Given the description of an element on the screen output the (x, y) to click on. 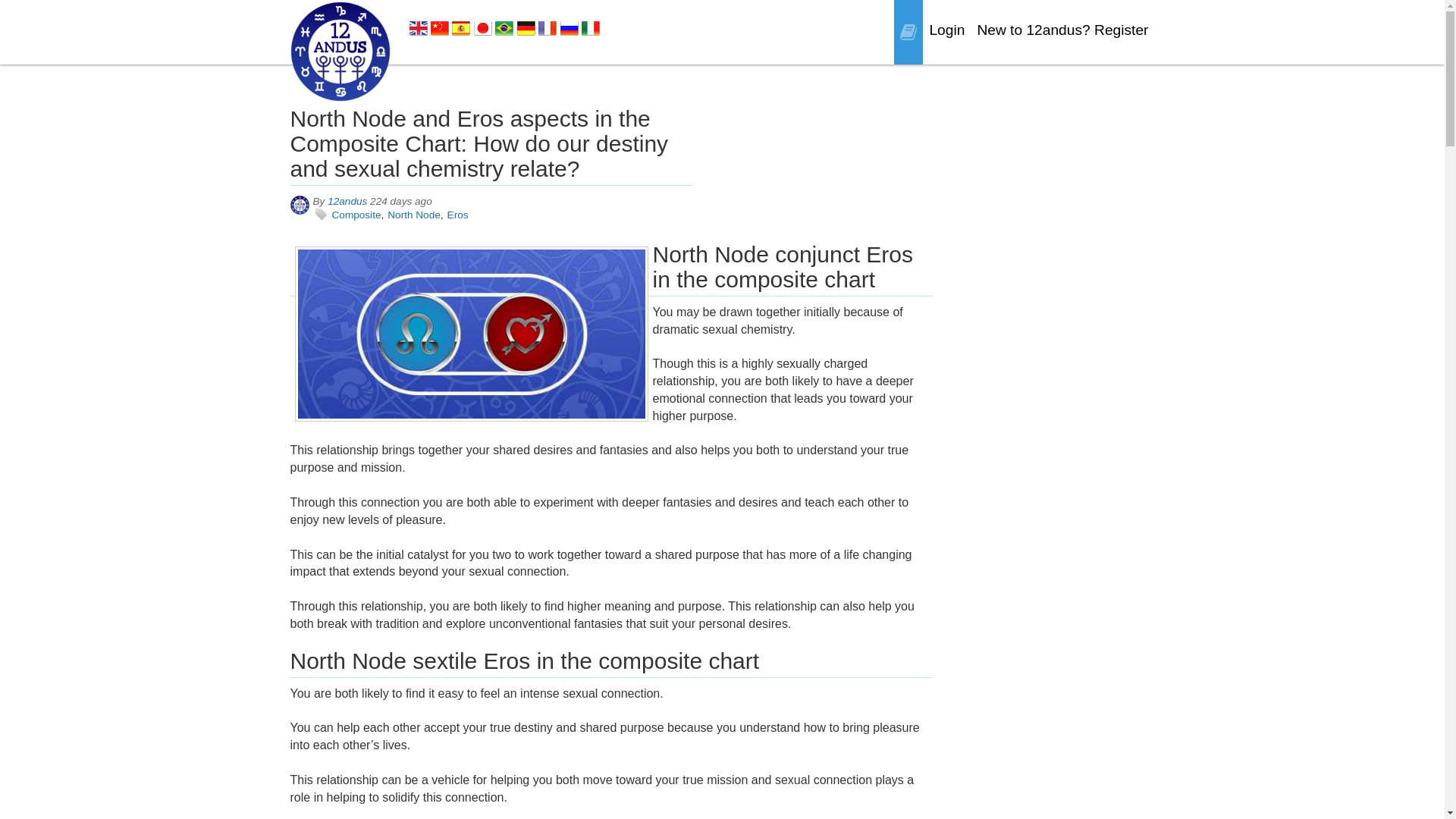
English Element type: hover (418, 27)
Italian Element type: hover (590, 27)
Chinese Element type: hover (439, 26)
Spanish Element type: hover (460, 27)
New to 12andus? Register Element type: text (1062, 30)
Login Element type: text (946, 30)
French Element type: hover (547, 27)
Eros Element type: text (457, 214)
Russian Element type: hover (569, 27)
12andus Element type: text (347, 201)
Chinese Element type: hover (439, 27)
Brazilian Portuguese Element type: hover (504, 27)
Japanese Element type: hover (482, 27)
12andus Element type: hover (298, 204)
Italian Element type: hover (590, 26)
Spanish Element type: hover (460, 26)
German Element type: hover (526, 26)
Russian Element type: hover (569, 26)
German Element type: hover (526, 27)
Japanese Element type: hover (482, 26)
Brazilian Portuguese Element type: hover (504, 26)
French Element type: hover (547, 26)
North Node Element type: text (413, 214)
Composite Element type: text (356, 214)
Blogs Element type: hover (908, 33)
